Given the description of an element on the screen output the (x, y) to click on. 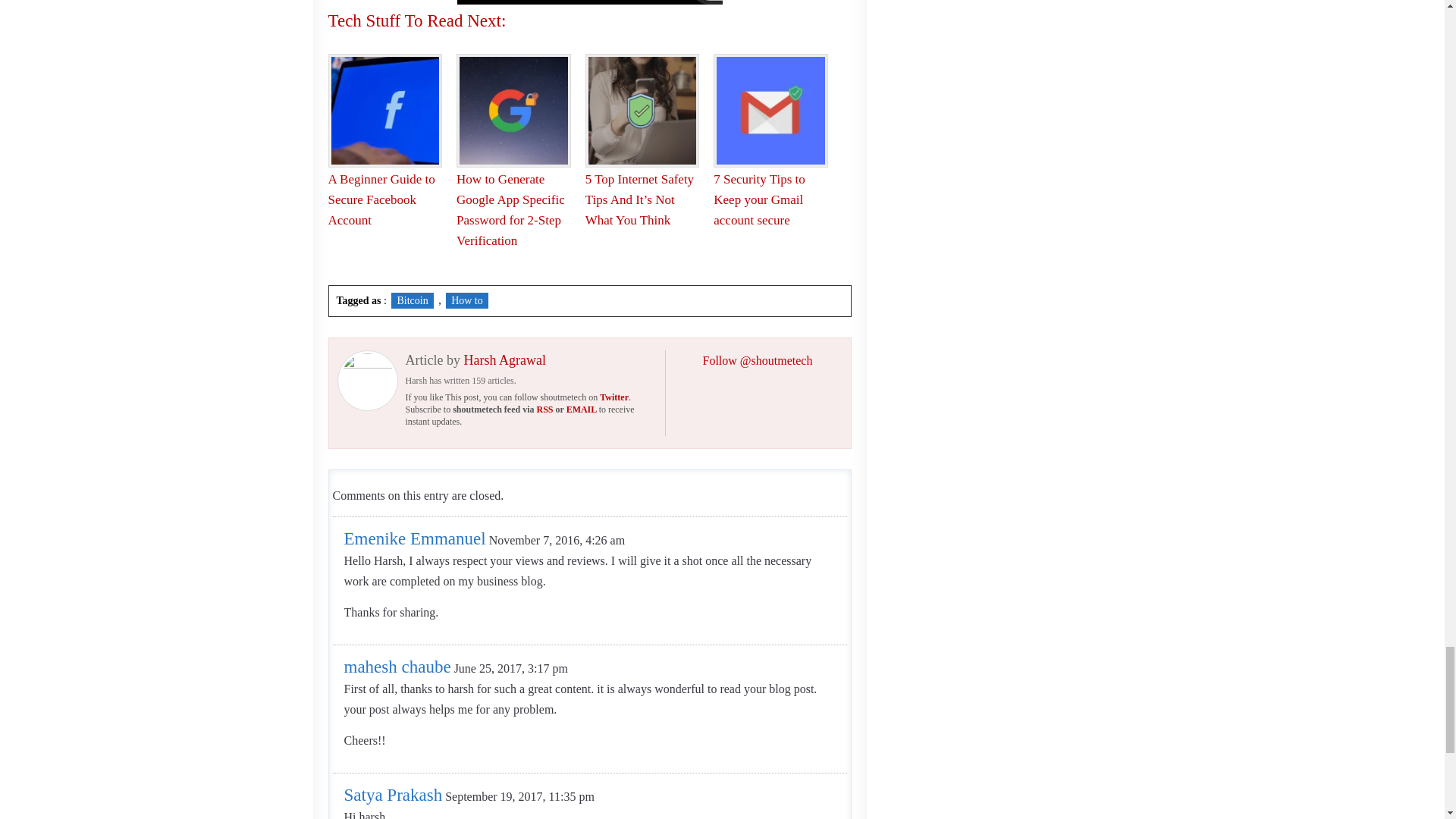
7 Security Tips to Keep your Gmail account secure (759, 199)
A Beginner Guide to Secure Facebook Account (380, 199)
A Beginner Guide to Secure Facebook Account (380, 199)
Bitcoin (411, 300)
7 Security Tips to Keep your Gmail account secure (759, 199)
